Given the description of an element on the screen output the (x, y) to click on. 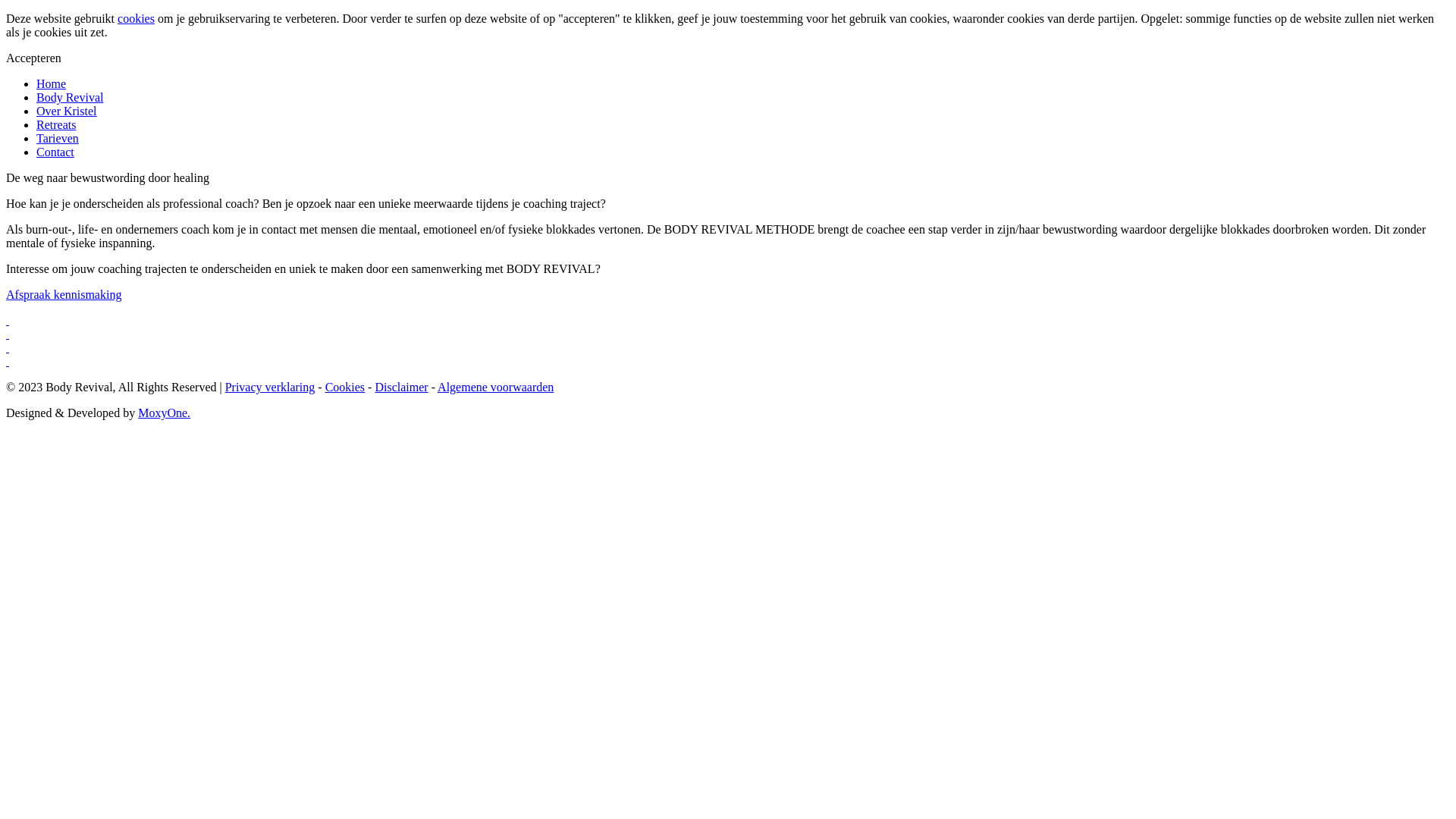
cookies Element type: text (135, 18)
Afspraak kennismaking Element type: text (63, 294)
  Element type: text (727, 320)
  Element type: text (727, 347)
  Element type: text (727, 361)
Privacy verklaring Element type: text (270, 386)
Tarieven Element type: text (57, 137)
Home Element type: text (50, 83)
Retreats Element type: text (55, 124)
Disclaimer Element type: text (400, 386)
MoxyOne. Element type: text (164, 412)
Contact Element type: text (55, 151)
Over Kristel Element type: text (66, 110)
Body Revival Element type: text (69, 97)
  Element type: text (727, 334)
Algemene voorwaarden Element type: text (495, 386)
Cookies Element type: text (344, 386)
